Given the description of an element on the screen output the (x, y) to click on. 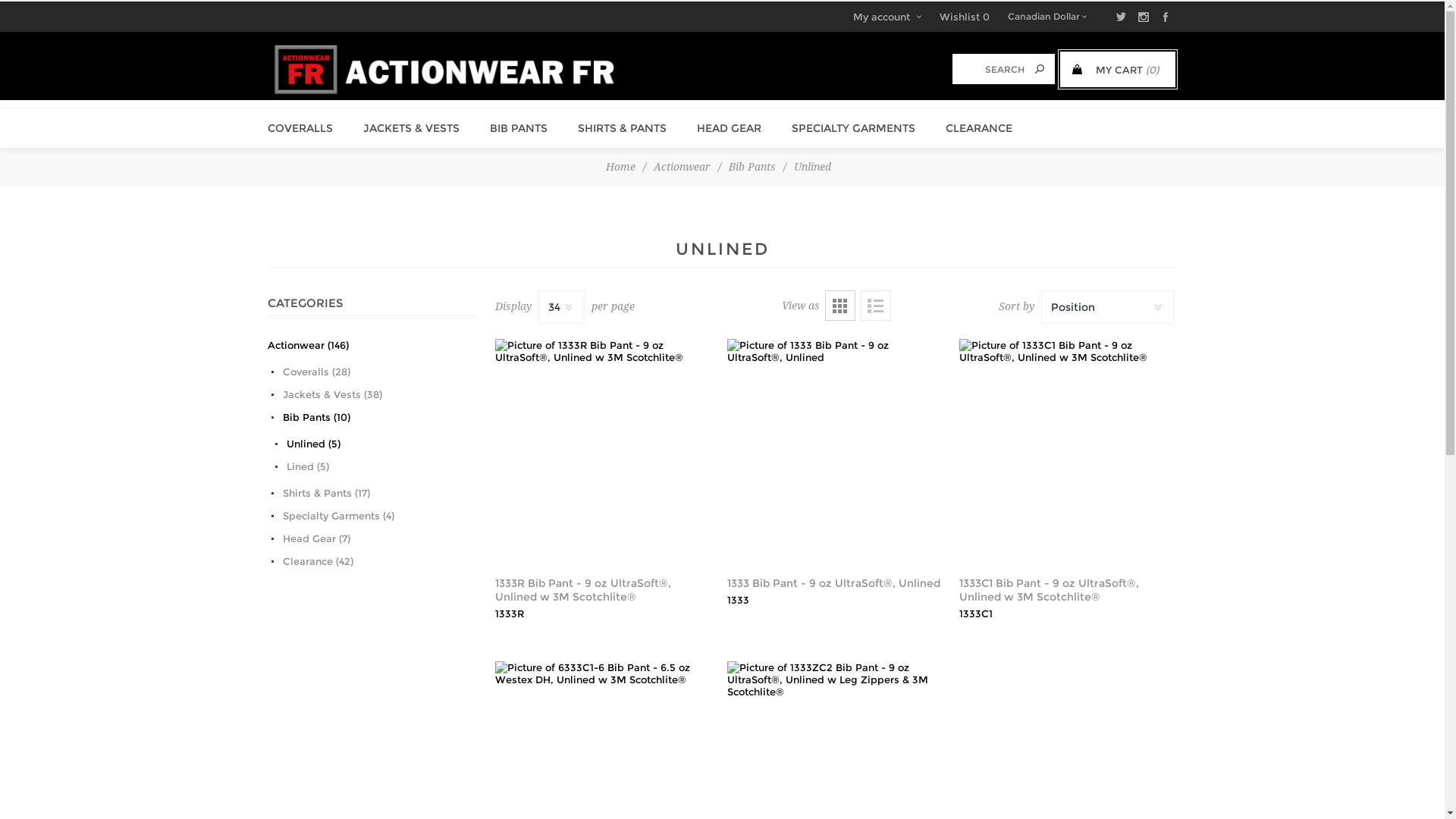
1333R-Navy-Front.jpg Element type: hover (603, 447)
Clearance (42) Element type: text (312, 560)
1333-Royal-Front.jpg Element type: hover (835, 447)
Actionwear (146) Element type: text (307, 344)
Search Element type: text (1039, 68)
Unlined (5) Element type: text (306, 443)
My account Element type: text (886, 16)
SHIRTS & PANTS Element type: text (621, 127)
BIB PANTS Element type: text (518, 127)
MY CART (0) Element type: text (1116, 69)
Head Gear (7) Element type: text (310, 538)
ActionWear Element type: hover (443, 69)
CLEARANCE Element type: text (977, 127)
Shirts & Pants (17) Element type: text (320, 492)
Actionwear Element type: text (681, 166)
COVERALLS Element type: text (299, 127)
List Element type: text (874, 305)
Grid Element type: text (840, 305)
Bib Pants (10) Element type: text (310, 416)
Specialty Garments (4) Element type: text (332, 515)
Lined (5) Element type: text (301, 466)
Coveralls (28) Element type: text (310, 371)
Jackets & Vests (38) Element type: text (326, 393)
Home Element type: text (620, 166)
JACKETS & VESTS Element type: text (410, 127)
HEAD GEAR Element type: text (727, 127)
Bib Pants Element type: text (751, 166)
1333C1-Royal-Front.jpg Element type: hover (1067, 447)
SPECIALTY GARMENTS Element type: text (853, 127)
Wishlist 0 Element type: text (963, 16)
